Given the description of an element on the screen output the (x, y) to click on. 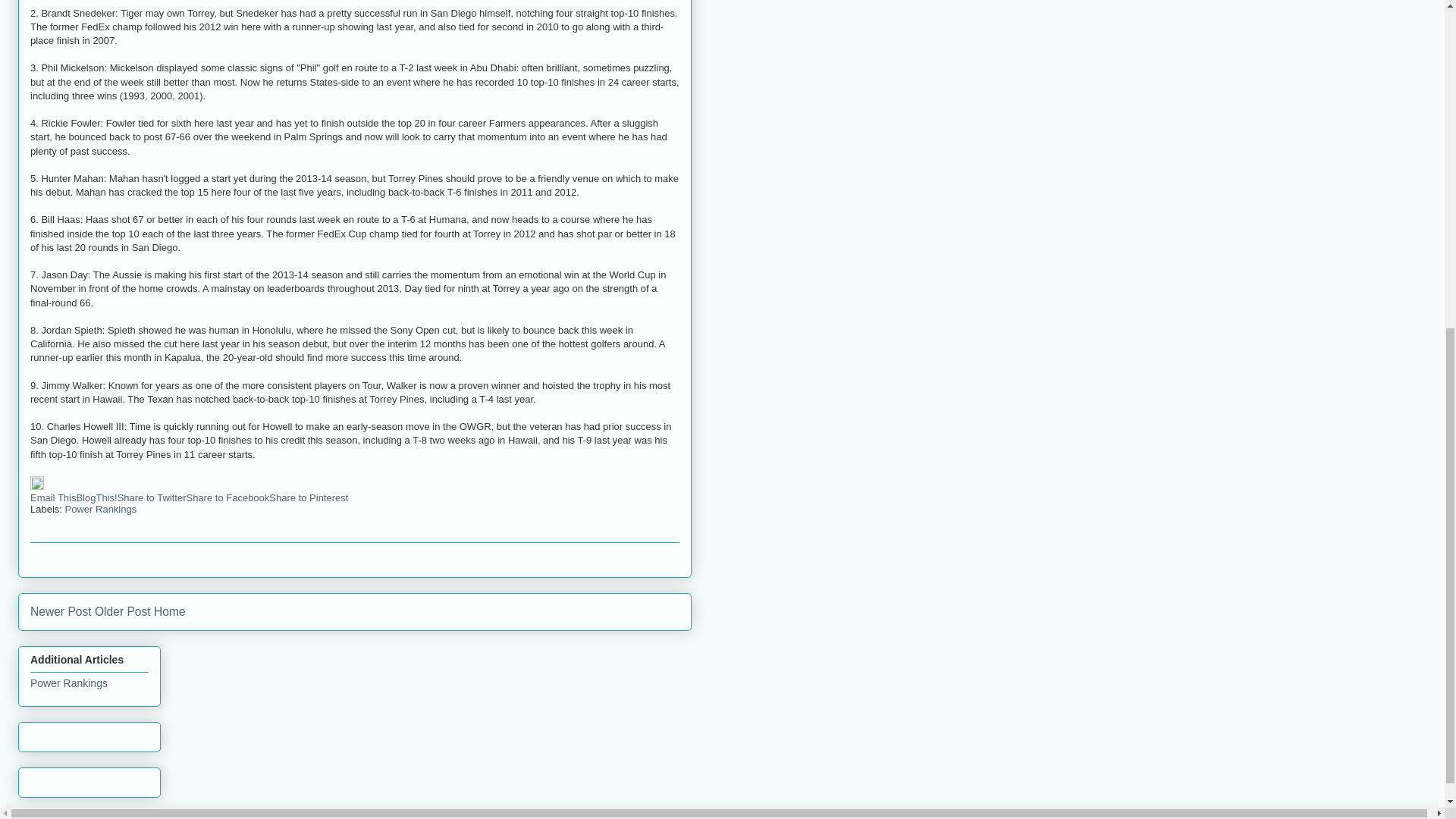
Older Post (122, 611)
Share to Pinterest (308, 497)
Newer Post (60, 611)
Share to Twitter (151, 497)
Edit Post (36, 486)
Older Post (122, 611)
Email This (52, 497)
Share to Facebook (227, 497)
Newer Post (60, 611)
BlogThis! (95, 497)
Share to Twitter (151, 497)
Email This (52, 497)
Power Rankings (68, 683)
Share to Facebook (227, 497)
Share to Pinterest (308, 497)
